Given the description of an element on the screen output the (x, y) to click on. 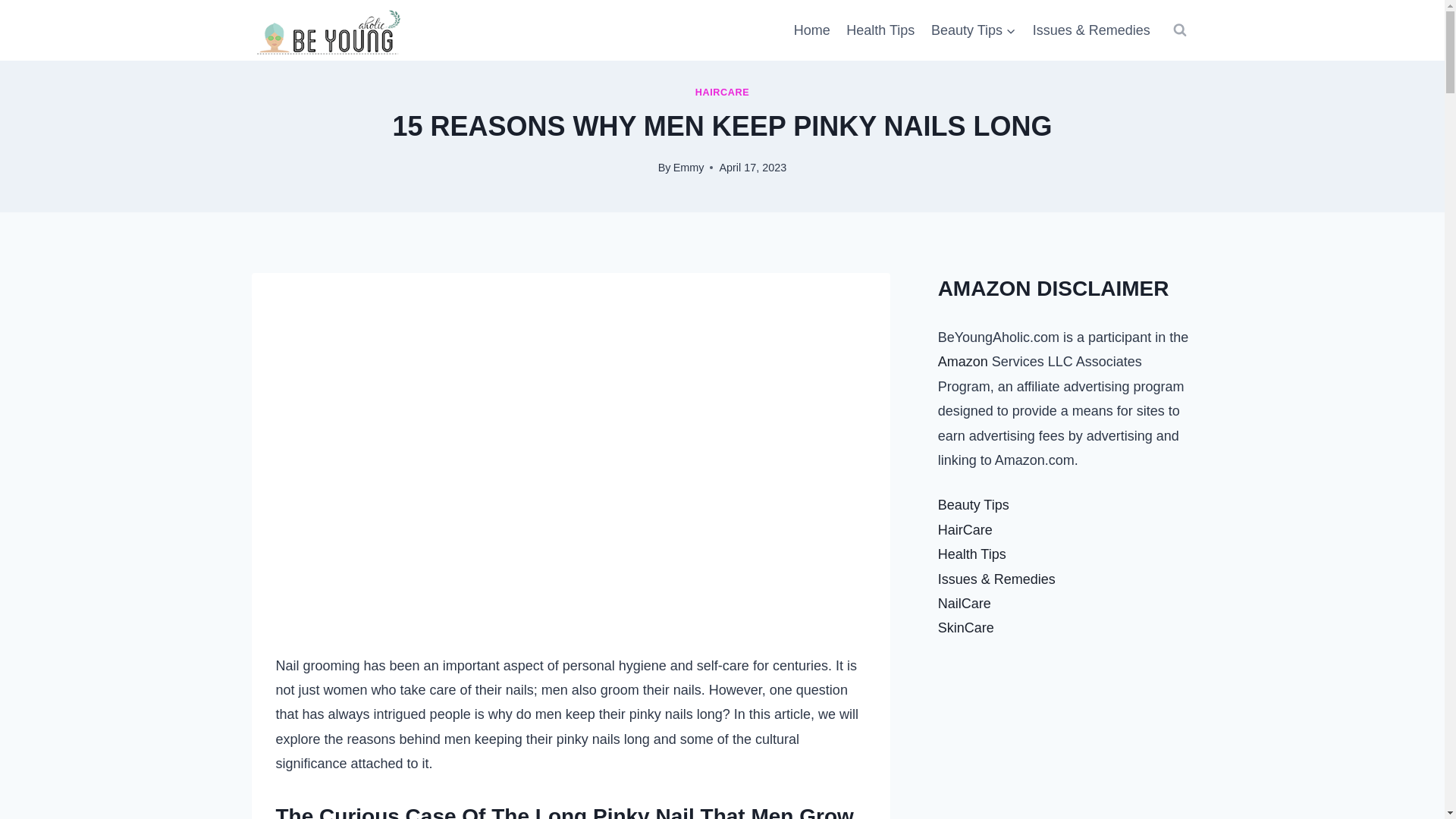
Home (812, 29)
Emmy (688, 167)
HAIRCARE (722, 91)
Beauty Tips (974, 29)
Hair Care (1065, 739)
Health Tips (880, 29)
